Given the description of an element on the screen output the (x, y) to click on. 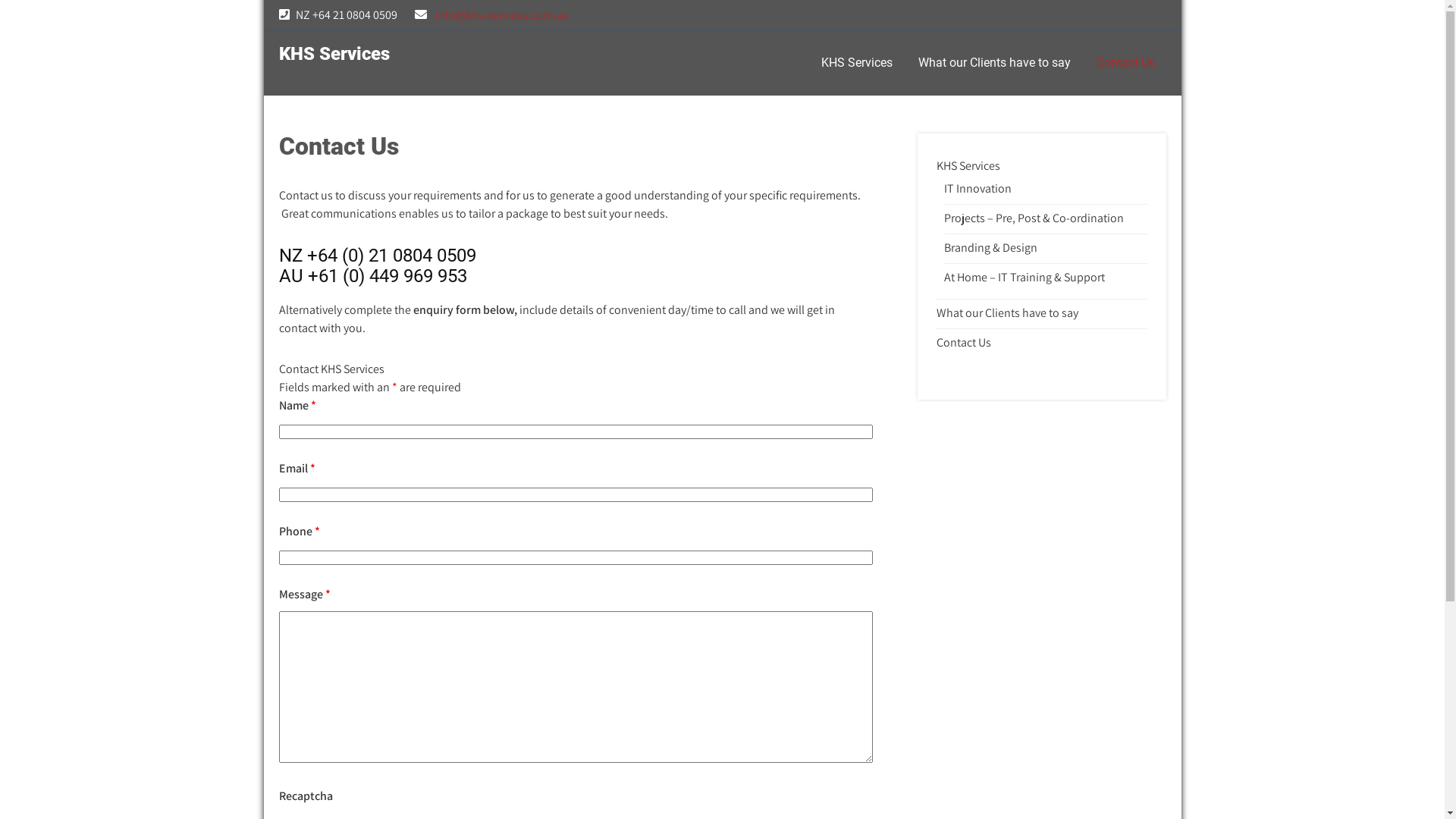
Info@khs-services.com.au Element type: text (501, 14)
IT Innovation Element type: text (977, 188)
What our Clients have to say Element type: text (994, 62)
KHS Services Element type: text (334, 53)
Branding & Design Element type: text (990, 247)
Contact Us Element type: text (1124, 62)
KHS Services Element type: text (856, 62)
Contact Us Element type: text (963, 342)
What our Clients have to say Element type: text (1007, 313)
KHS Services Element type: text (968, 165)
